Given the description of an element on the screen output the (x, y) to click on. 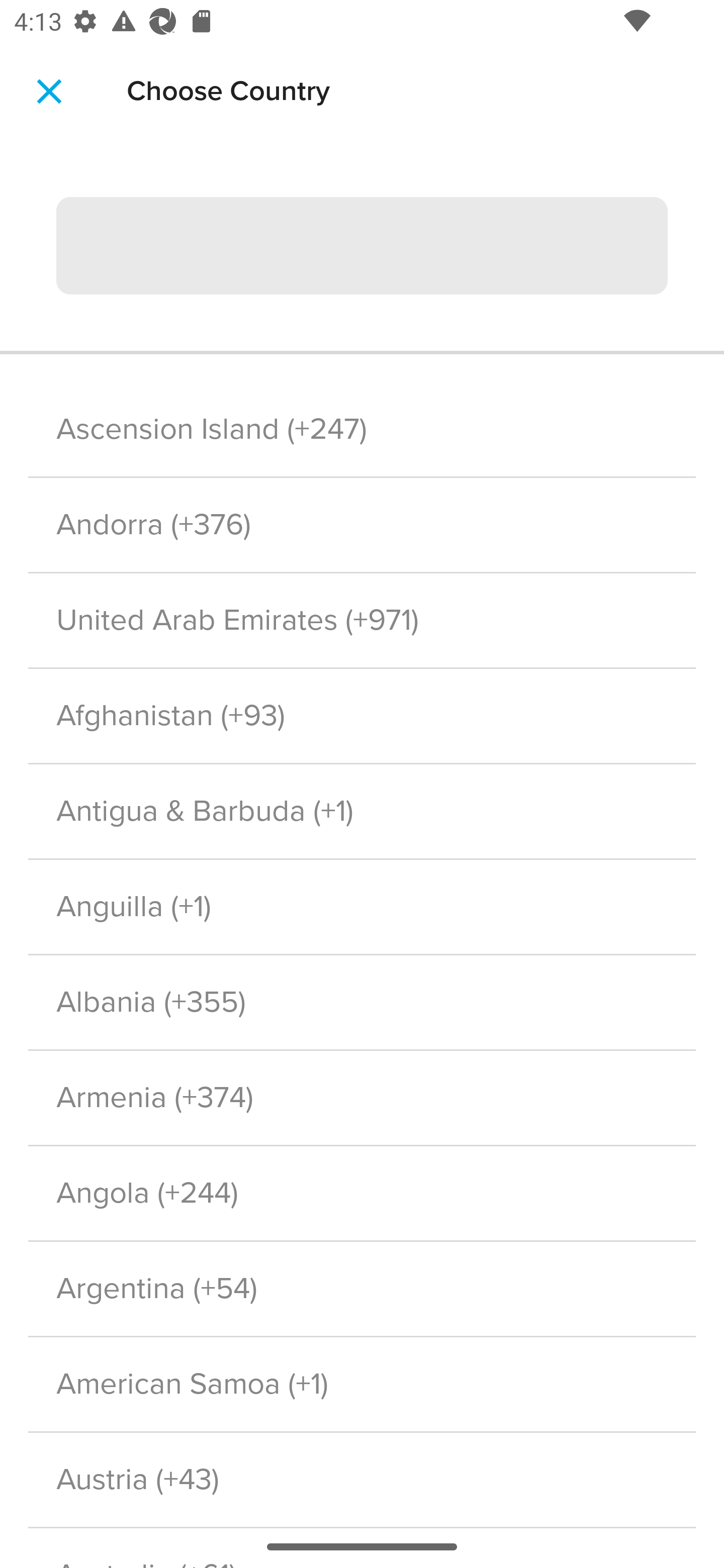
Navigate up (49, 91)
‍Ascension Island (+247) (361, 429)
‍Andorra (+376) (361, 525)
‍United Arab Emirates (+971) (361, 620)
‍Afghanistan (+93) (361, 716)
‍Antigua & Barbuda (+1) (361, 810)
‍Anguilla (+1) (361, 906)
‍Albania (+355) (361, 1001)
‍Armenia (+374) (361, 1097)
‍Angola (+244) (361, 1193)
‍Argentina (+54) (361, 1288)
‍American Samoa (+1) (361, 1384)
‍Austria (+43) (361, 1480)
